Given the description of an element on the screen output the (x, y) to click on. 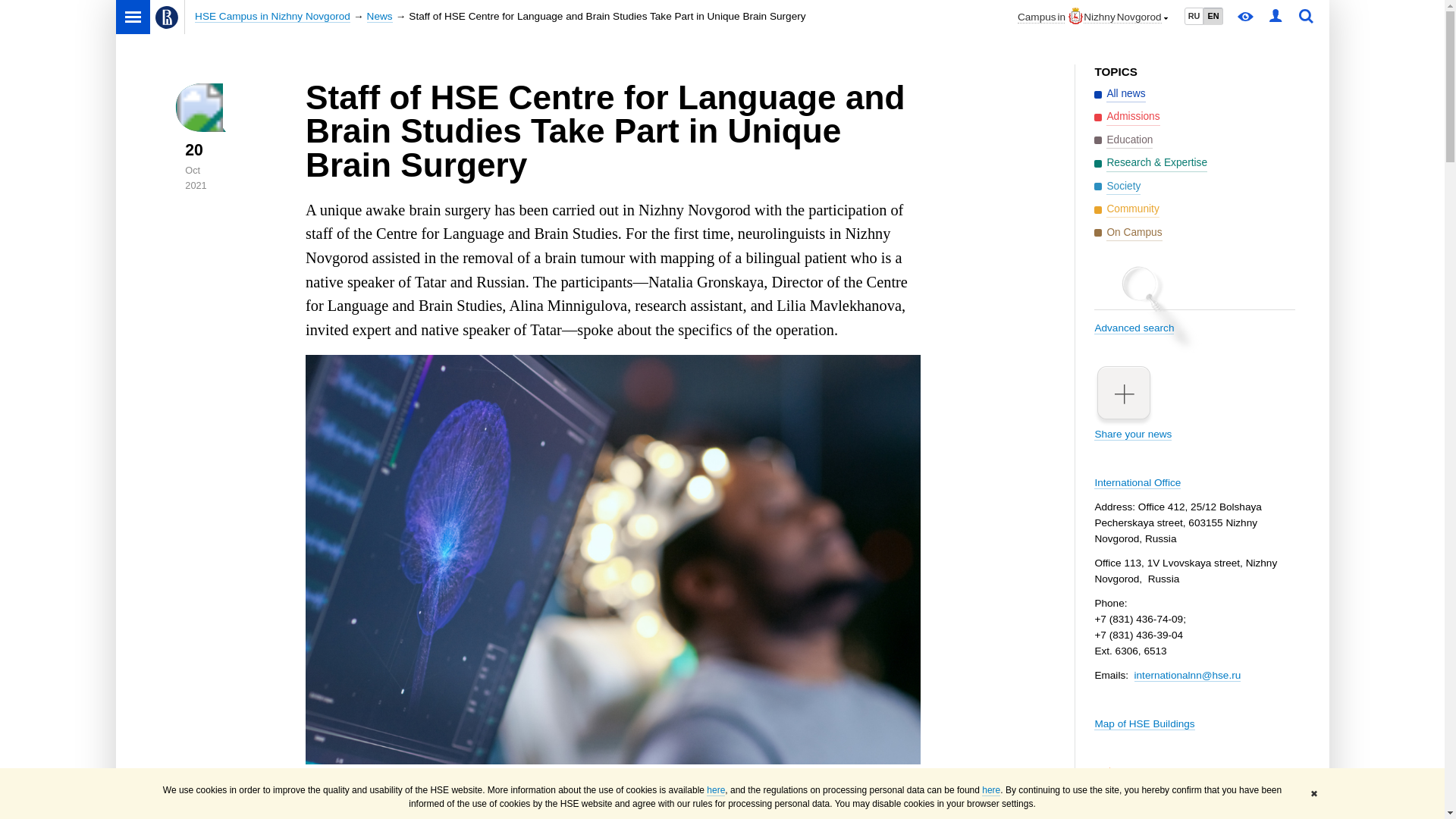
News (379, 16)
Society (1117, 186)
Share your news (1194, 402)
Advanced search (1194, 314)
Admissions (1126, 116)
Map of HSE Buildings (1143, 724)
RU (1194, 16)
International Office (1137, 482)
Education (1123, 139)
here (990, 790)
here (715, 790)
All news (1119, 93)
Search (1306, 17)
Community (1126, 208)
